Given the description of an element on the screen output the (x, y) to click on. 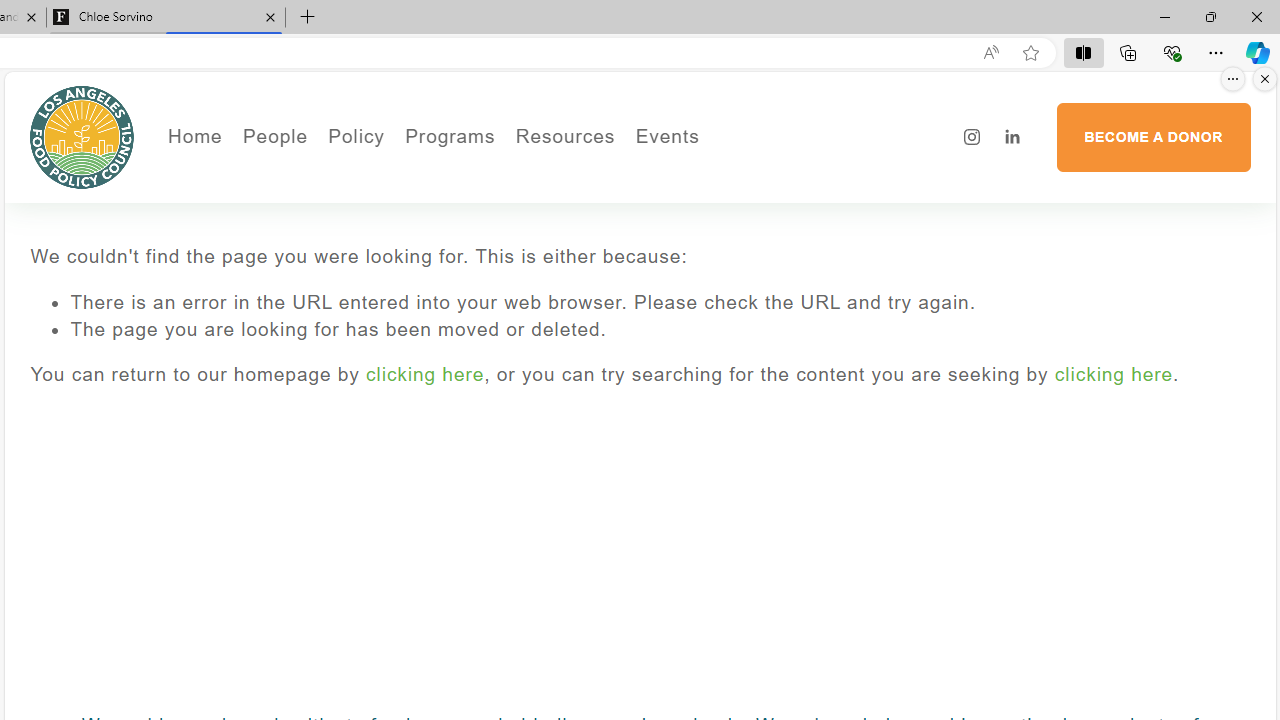
Events (734, 176)
Farm Fresh LA (504, 205)
LinkedIn (1012, 137)
Instagram (972, 137)
Press (341, 232)
Los Angeles Food Policy Council (81, 136)
Policy (356, 136)
SoCal Impact Food Fund (643, 205)
About (341, 176)
clicking here (1113, 374)
